Given the description of an element on the screen output the (x, y) to click on. 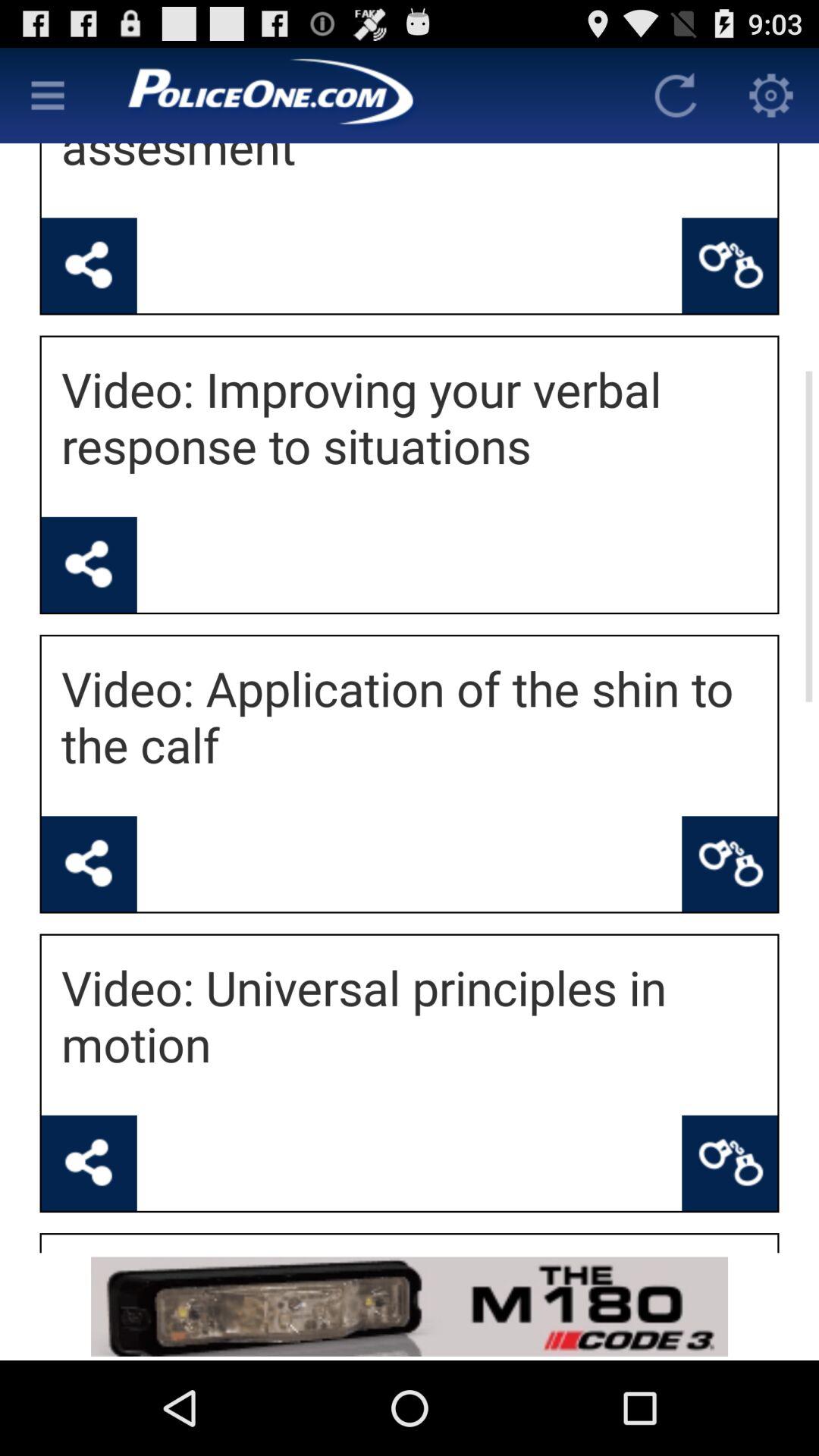
advertisements banner (409, 1306)
